Given the description of an element on the screen output the (x, y) to click on. 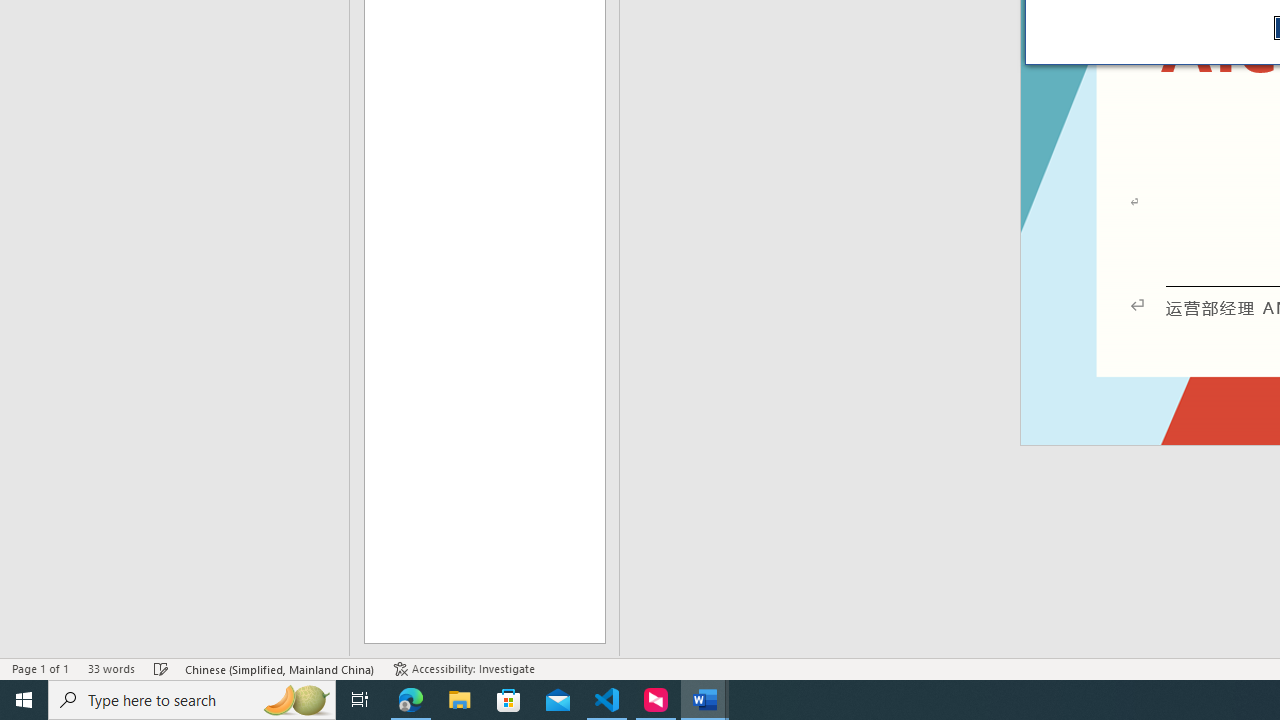
Word - 2 running windows (704, 699)
